Given the description of an element on the screen output the (x, y) to click on. 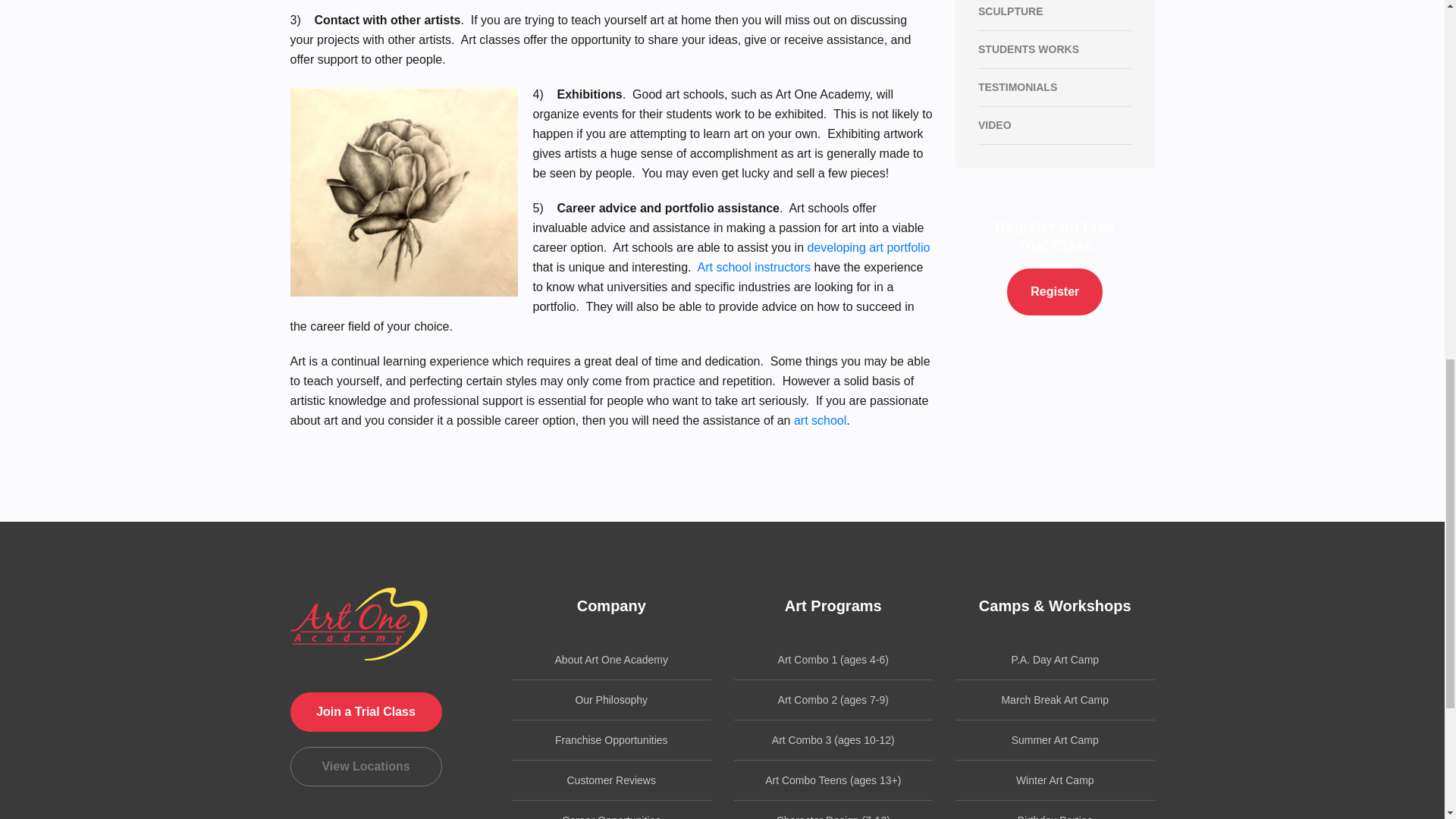
SCULPTURE (1055, 15)
Art school (819, 420)
Art Instructors (753, 267)
Art school instructors (753, 267)
Alan - Rose (402, 192)
art school (819, 420)
TESTIMONIALS (1055, 86)
developing art portfolio (868, 246)
STUDENTS WORKS (1055, 48)
